Given the description of an element on the screen output the (x, y) to click on. 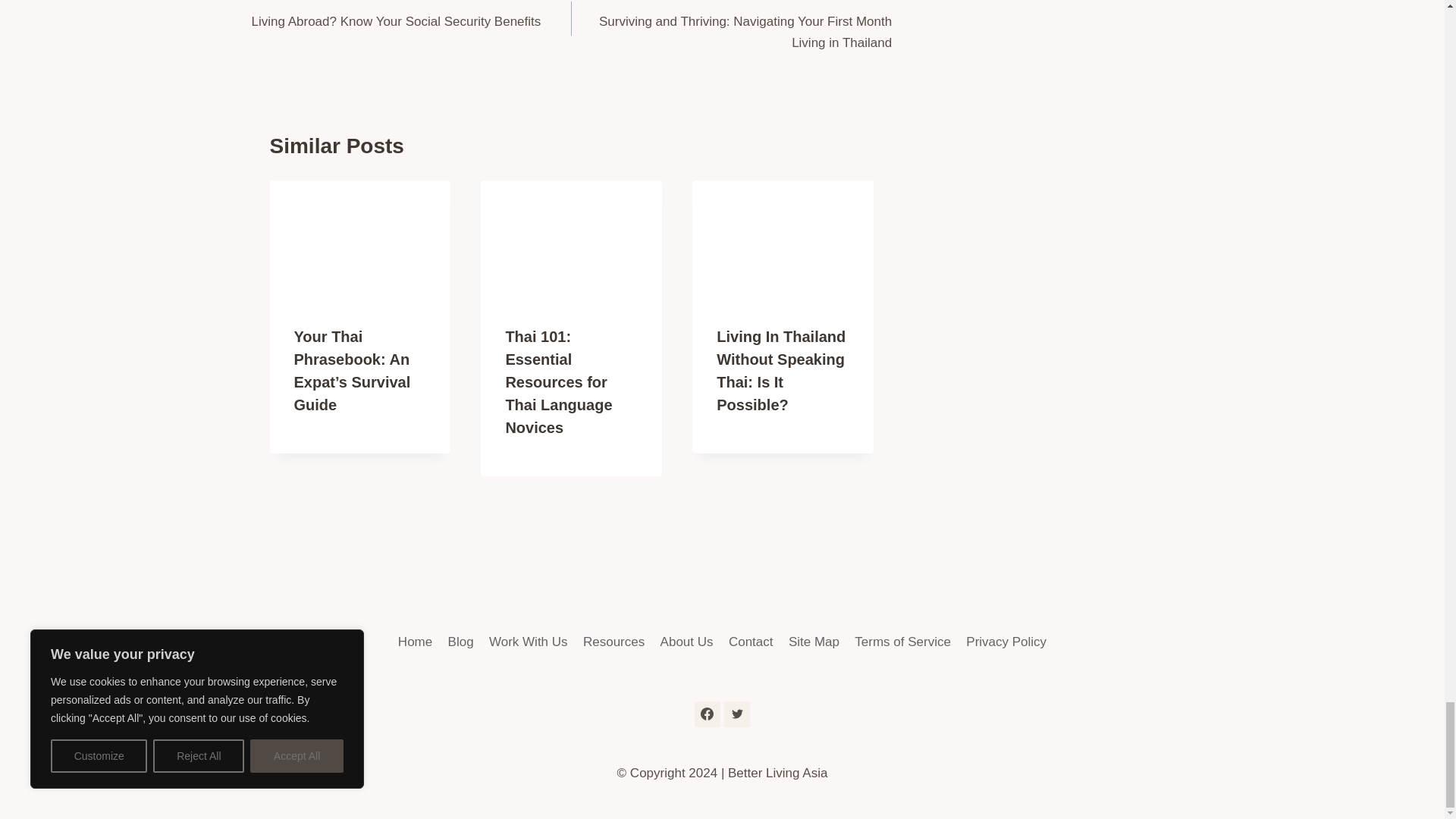
Thai 101: Essential Resources for Thai Language Novices (411, 16)
